Given the description of an element on the screen output the (x, y) to click on. 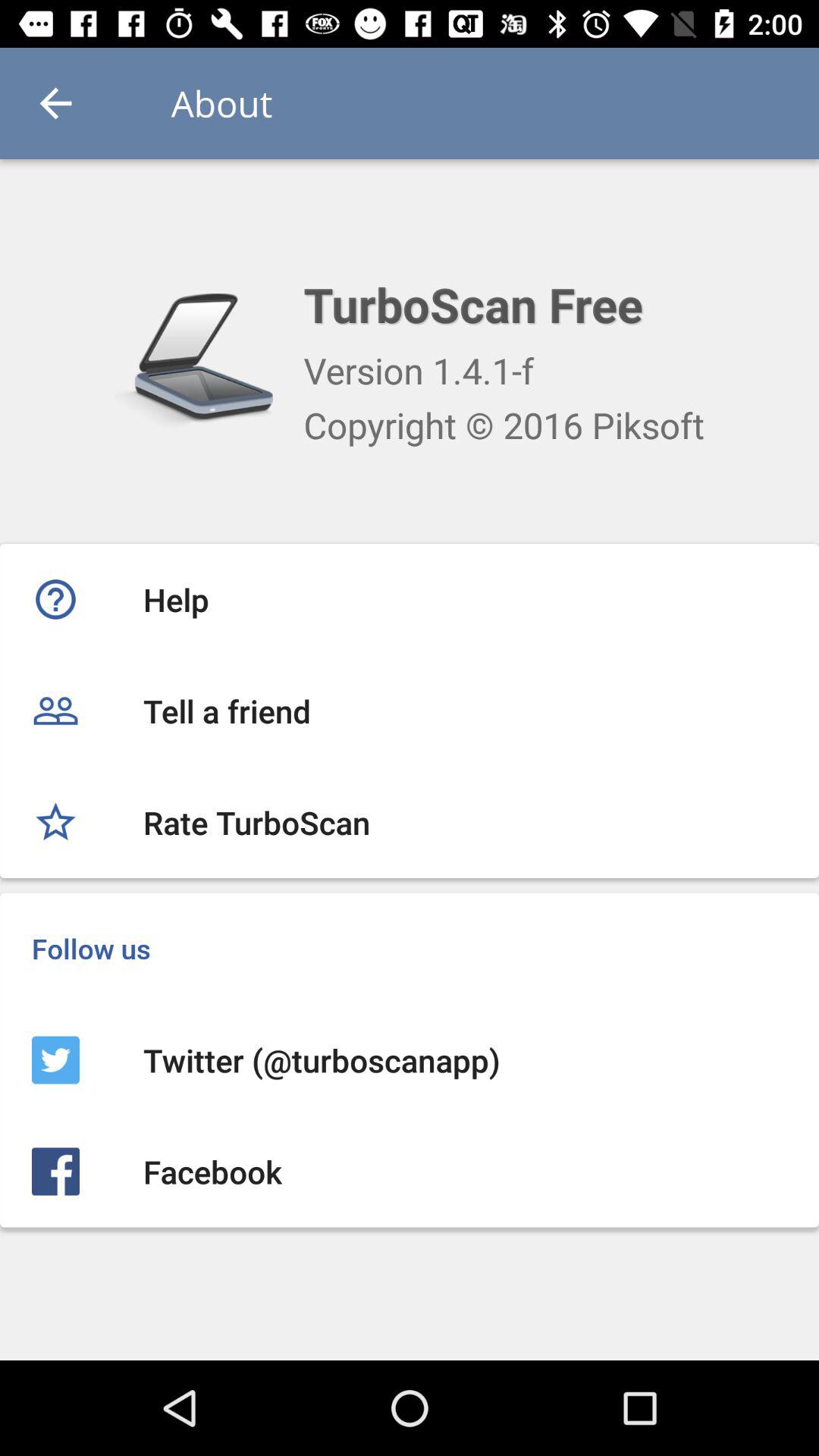
turn off tell a friend (409, 710)
